Given the description of an element on the screen output the (x, y) to click on. 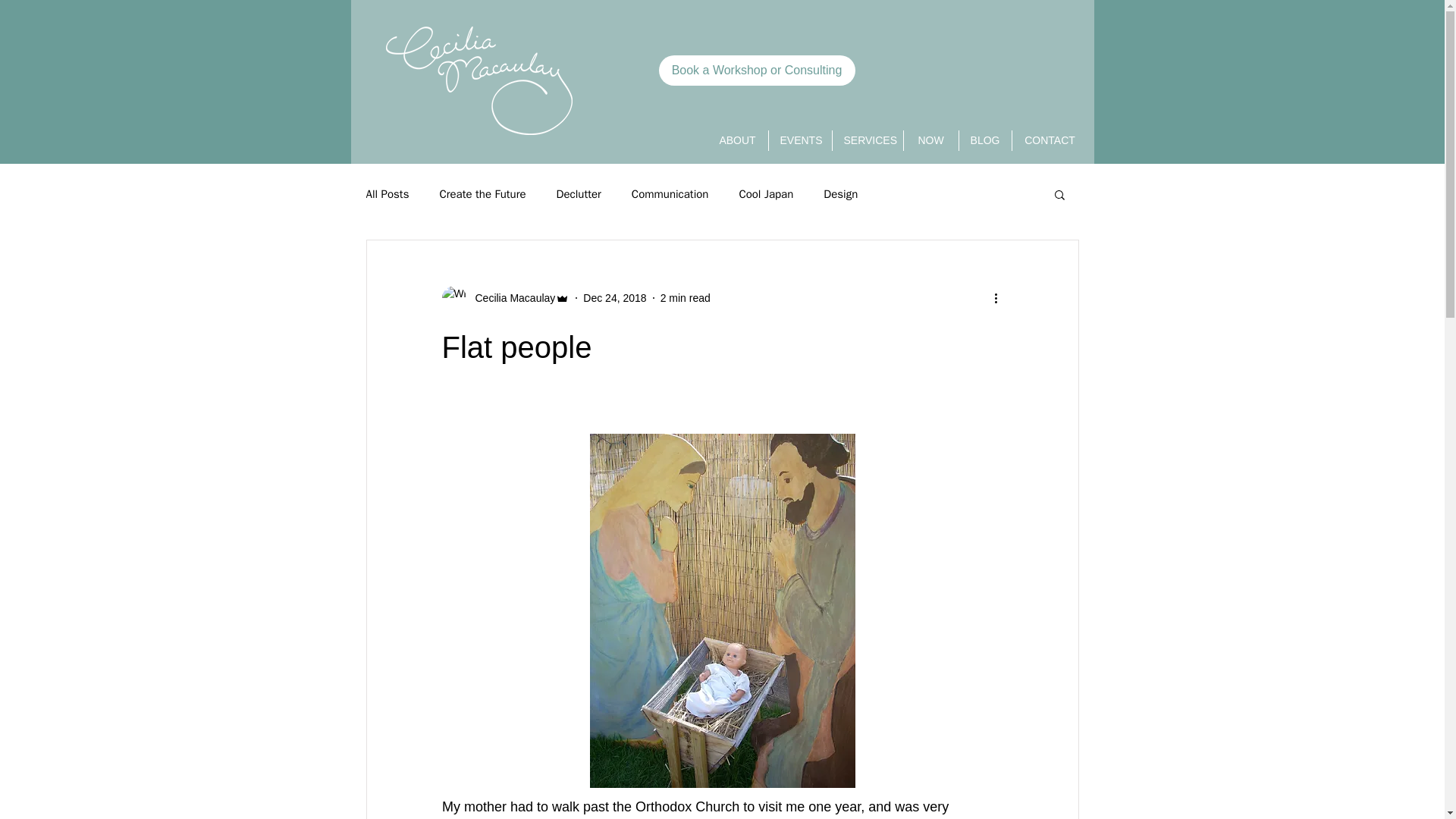
Declutter (578, 193)
Cool Japan (765, 193)
Create the Future (482, 193)
Design (840, 193)
Cecilia Macaulay (509, 297)
BLOG (984, 140)
Dec 24, 2018 (614, 297)
Book a Workshop or Consulting (756, 70)
EVENTS (799, 140)
ABOUT (736, 140)
2 min read (685, 297)
CONTACT (1049, 140)
All Posts (387, 193)
Cecilia Macaulay (505, 297)
Communication (670, 193)
